Given the description of an element on the screen output the (x, y) to click on. 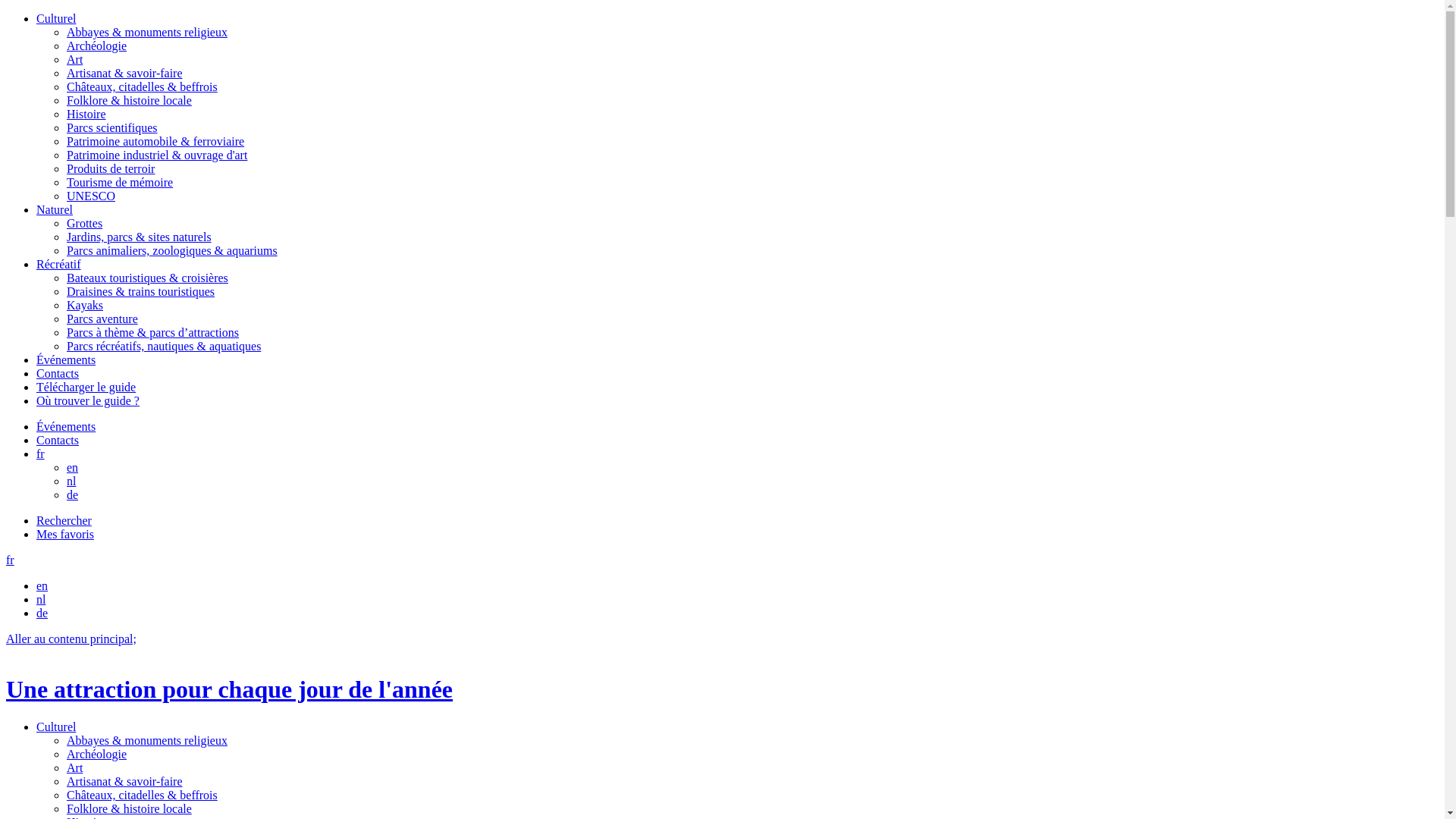
nl Element type: text (40, 599)
Mes favoris Element type: text (65, 533)
Jardins, parcs & sites naturels Element type: text (138, 236)
Produits de terroir Element type: text (110, 168)
Art Element type: text (74, 767)
en Element type: text (72, 467)
Parcs animaliers, zoologiques & aquariums Element type: text (171, 250)
Artisanat & savoir-faire Element type: text (124, 781)
Art Element type: text (74, 59)
Parcs aventure Element type: text (102, 318)
en Element type: text (41, 585)
nl Element type: text (70, 480)
Folklore & histoire locale Element type: text (128, 808)
Artisanat & savoir-faire Element type: text (124, 72)
Draisines & trains touristiques Element type: text (140, 291)
Culturel Element type: text (55, 18)
Abbayes & monuments religieux Element type: text (146, 31)
Naturel Element type: text (54, 209)
Kayaks Element type: text (84, 304)
Patrimoine automobile & ferroviaire Element type: text (155, 140)
de Element type: text (41, 612)
Contacts Element type: text (57, 439)
Aller au contenu principal; Element type: text (71, 638)
Rechercher Element type: text (63, 520)
Contacts Element type: text (57, 373)
de Element type: text (72, 494)
Histoire Element type: text (86, 113)
Grottes Element type: text (84, 222)
fr Element type: text (40, 453)
fr Element type: text (10, 559)
Abbayes & monuments religieux Element type: text (146, 740)
Culturel Element type: text (55, 726)
Parcs scientifiques Element type: text (111, 127)
Patrimoine industriel & ouvrage d'art Element type: text (156, 154)
UNESCO Element type: text (90, 195)
Folklore & histoire locale Element type: text (128, 100)
